Given the description of an element on the screen output the (x, y) to click on. 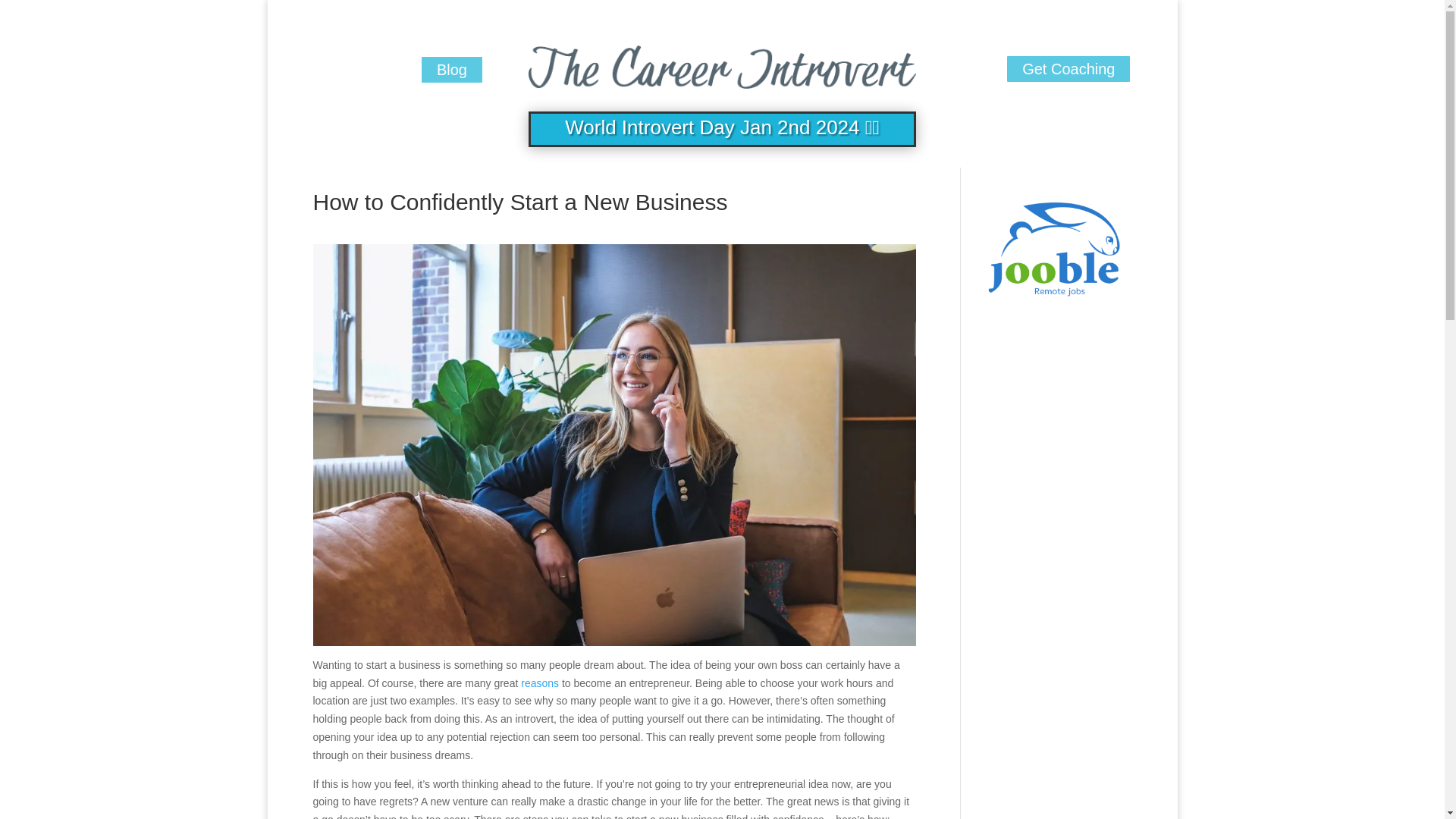
Get Coaching (1068, 68)
reasons (540, 683)
The Career Introvert (721, 63)
Blog (451, 69)
